Given the description of an element on the screen output the (x, y) to click on. 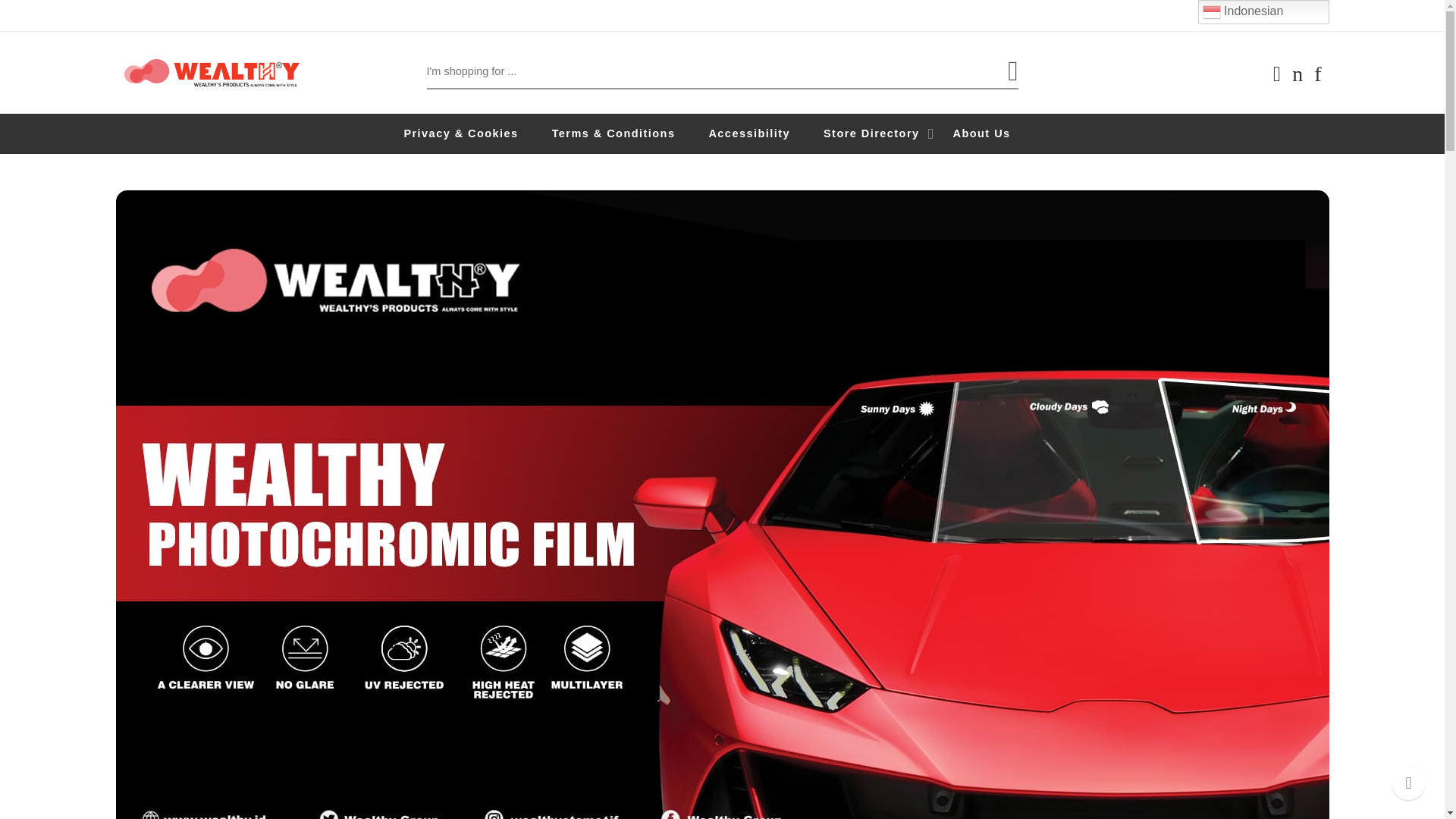
Store Directory (887, 133)
About Us (997, 133)
Store Directory (887, 133)
Accessibility (764, 133)
Wealthy - Product Otomotif Terbaik (210, 72)
Accessibility (764, 133)
